Given the description of an element on the screen output the (x, y) to click on. 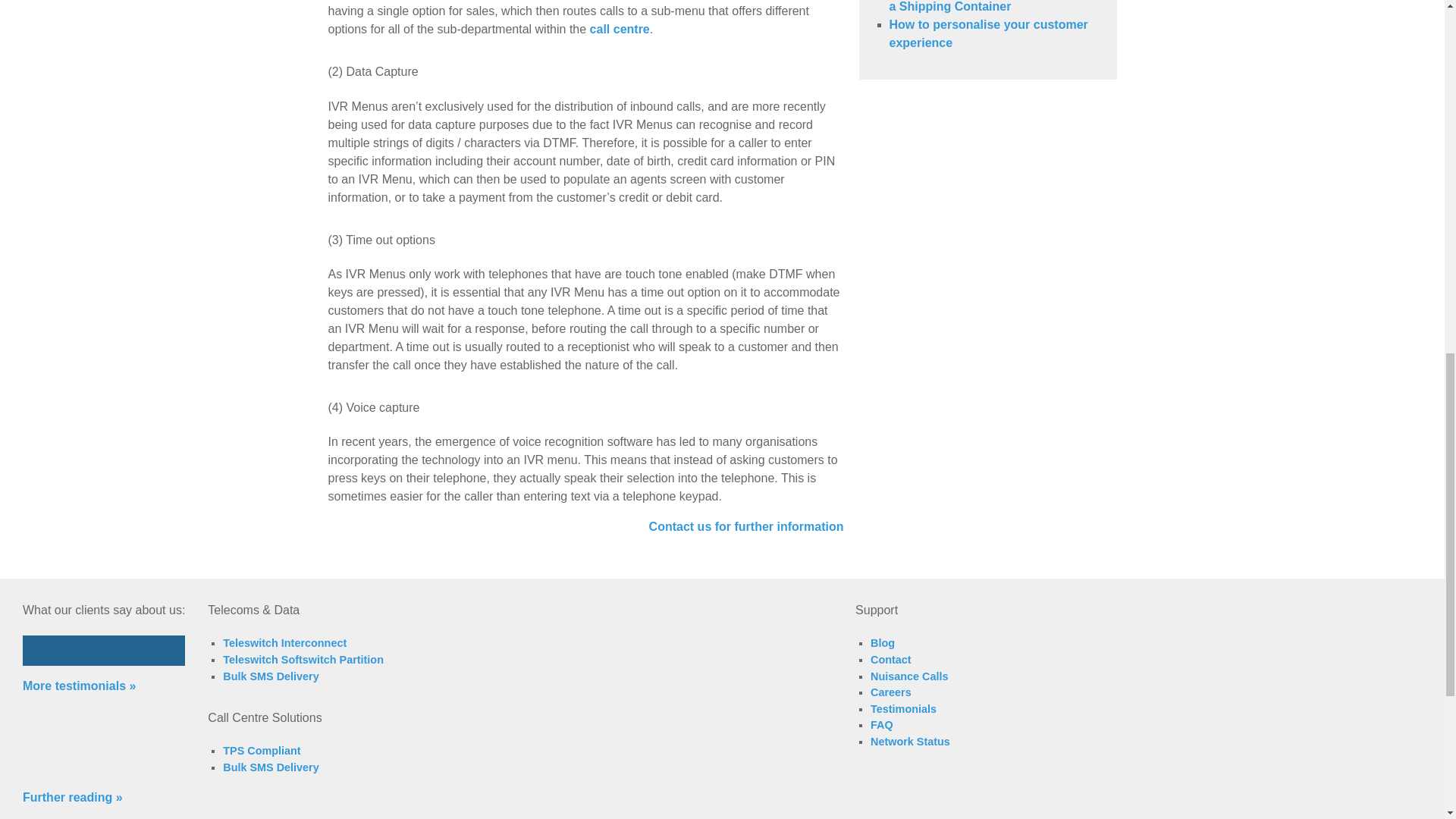
call centre (619, 29)
Blog (882, 643)
Bulk SMS Delivery (270, 676)
Contact (890, 659)
How to personalise your customer experience (987, 33)
TPS Compliant (260, 750)
Bulk SMS Delivery (270, 767)
Teleswitch Softswitch Partition (303, 659)
Teleswitch Interconnect (284, 643)
Zip Across the World in Seconds in a Shipping Container (990, 6)
Contact us for further information (746, 526)
Nuisance Calls (908, 676)
